Given the description of an element on the screen output the (x, y) to click on. 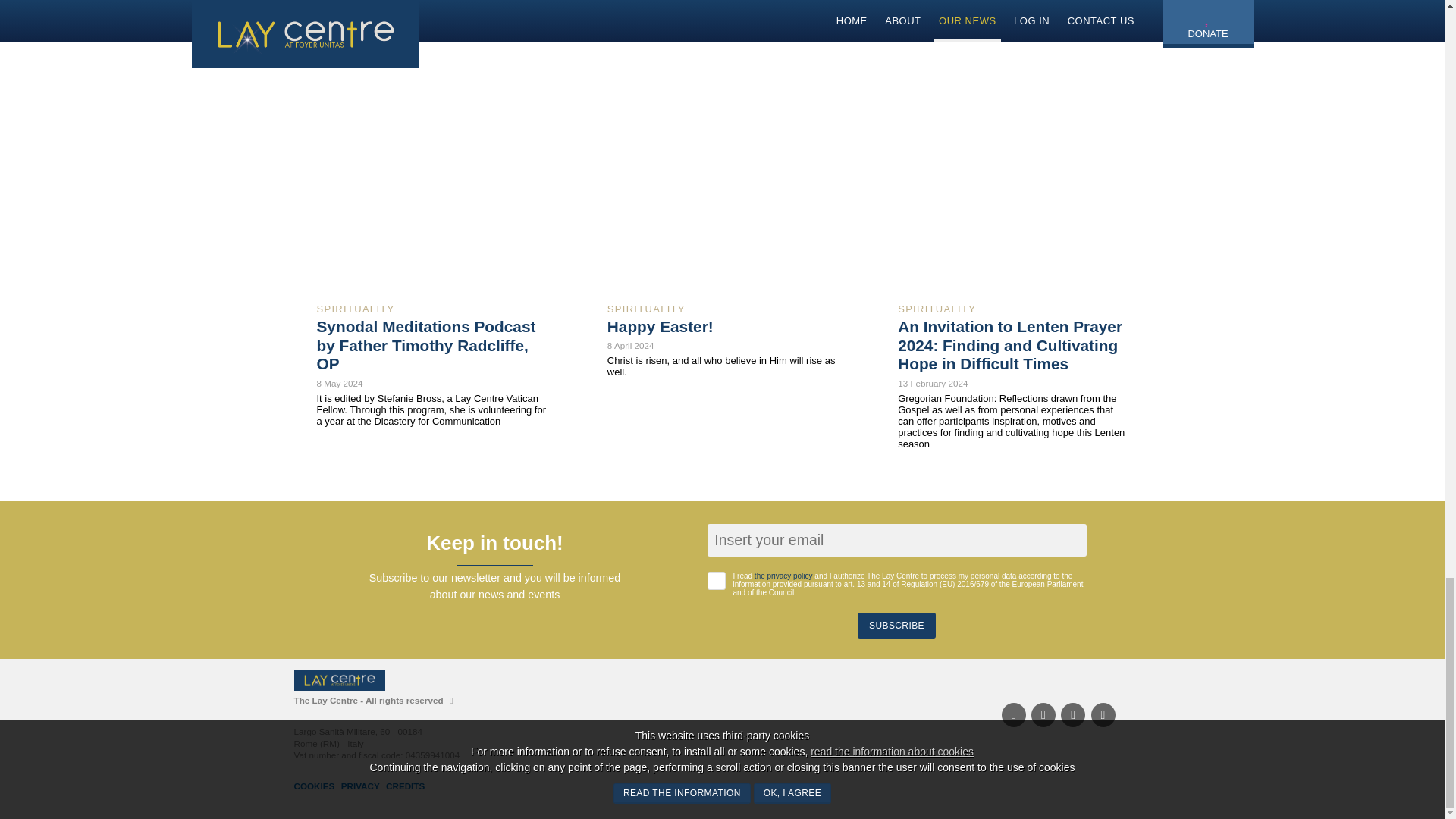
SUBSCRIBE (896, 625)
Synodal Meditations Podcast by Father Timothy Radcliffe, OP (426, 345)
SPIRITUALITY (936, 308)
PRIVACY (362, 786)
SPIRITUALITY (355, 308)
the privacy policy (783, 575)
COOKIES (316, 786)
Happy Easter! (660, 325)
SPIRITUALITY (646, 308)
